Given the description of an element on the screen output the (x, y) to click on. 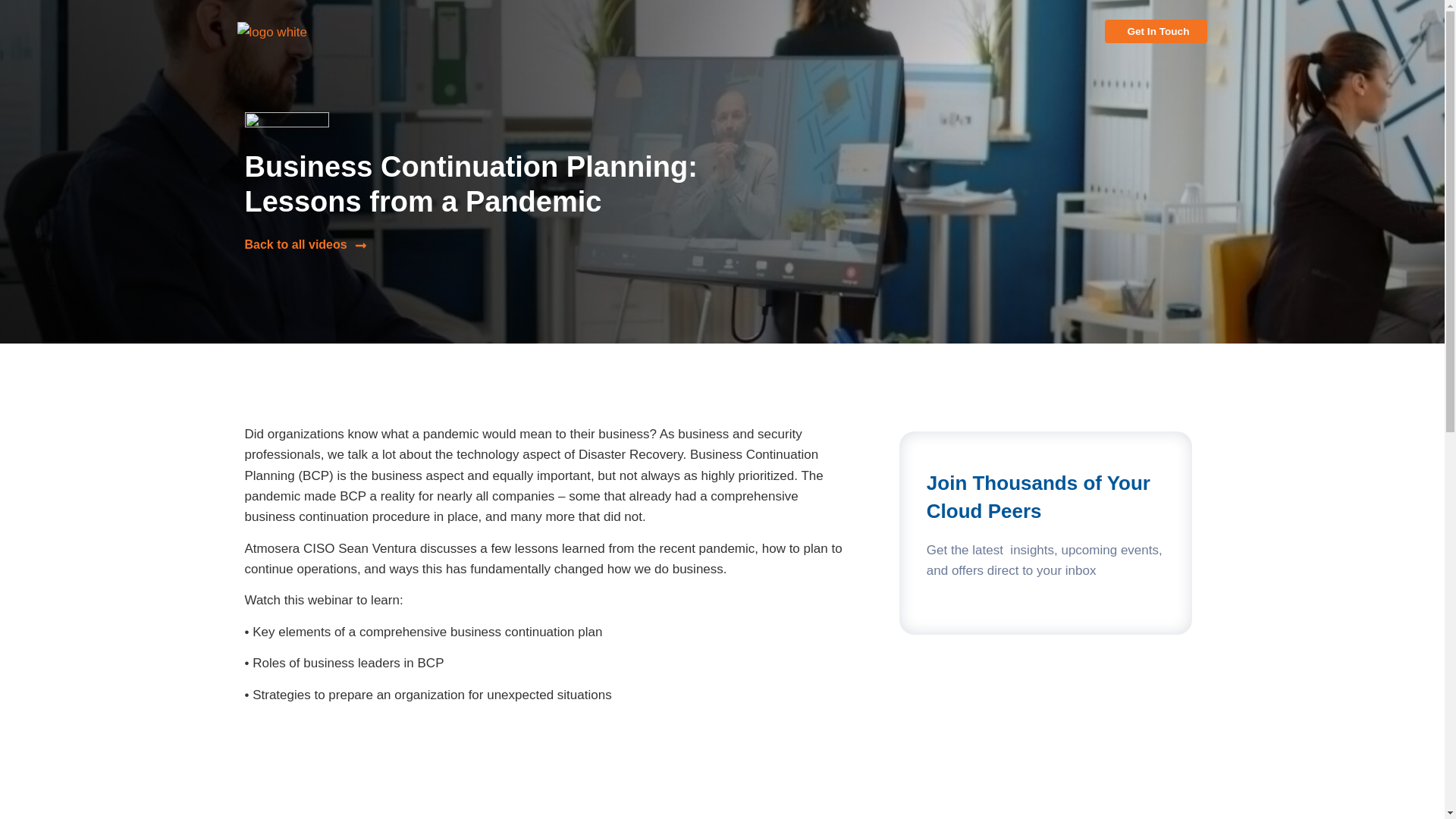
logo white (292, 32)
